Given the description of an element on the screen output the (x, y) to click on. 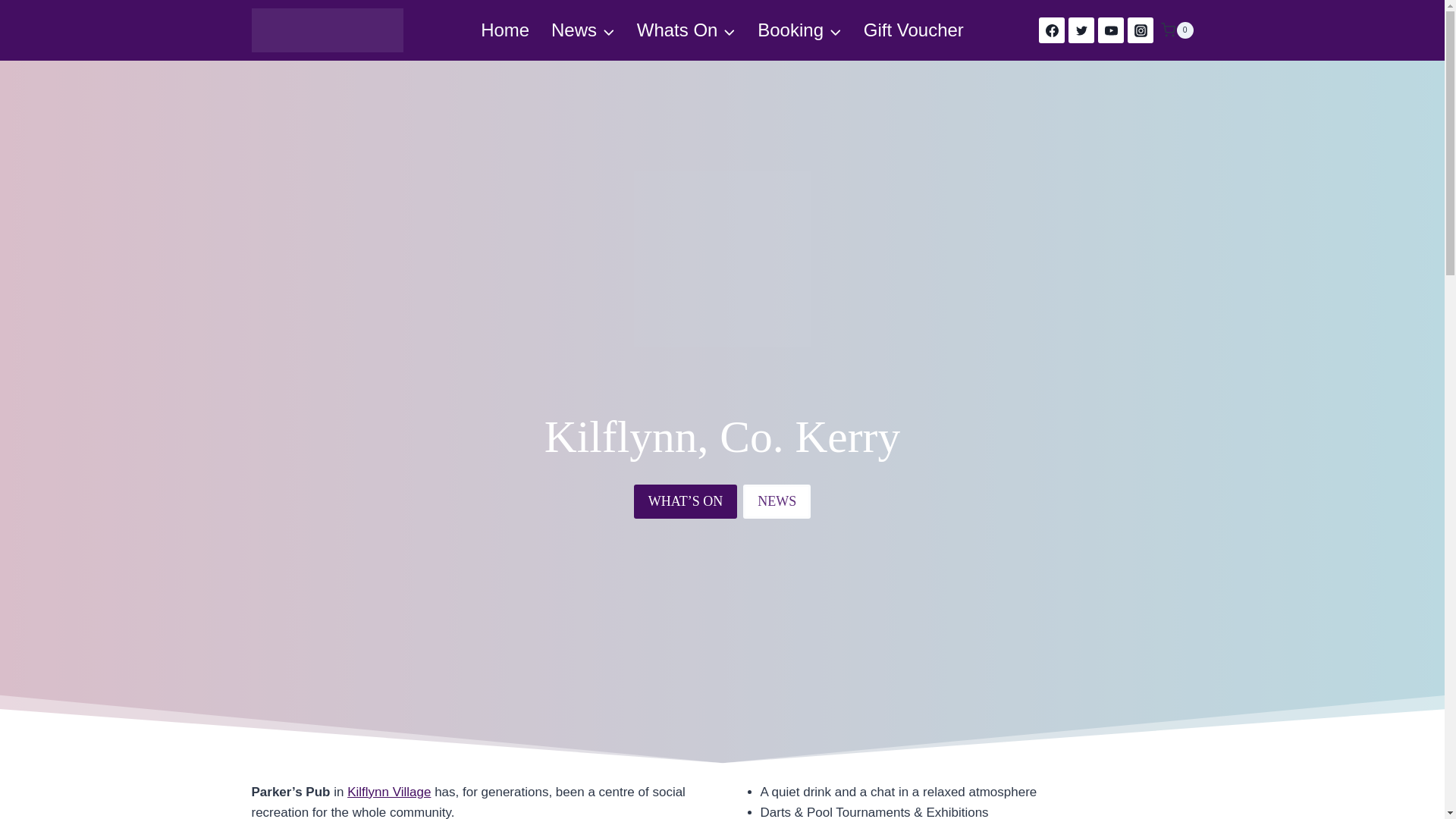
Kilflynn Village (388, 791)
Home (505, 29)
Booking (799, 29)
News (583, 29)
NEWS (776, 501)
0 (1176, 30)
Gift Voucher (912, 29)
Whats On (685, 29)
